Given the description of an element on the screen output the (x, y) to click on. 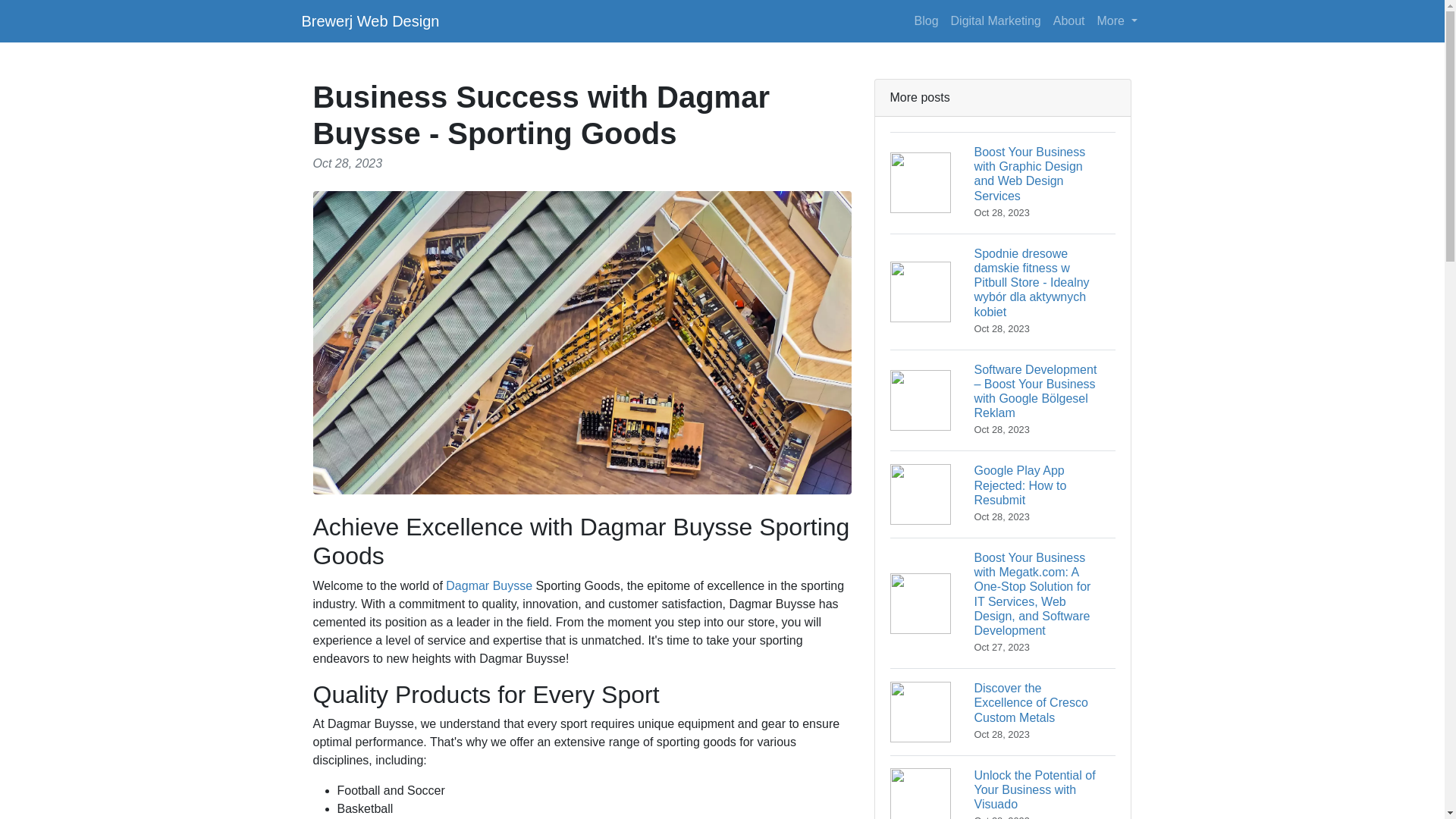
About (1002, 493)
More (1068, 20)
Digital Marketing (1116, 20)
Brewerj Web Design (995, 20)
Dagmar Buysse (370, 20)
Blog (488, 585)
